Given the description of an element on the screen output the (x, y) to click on. 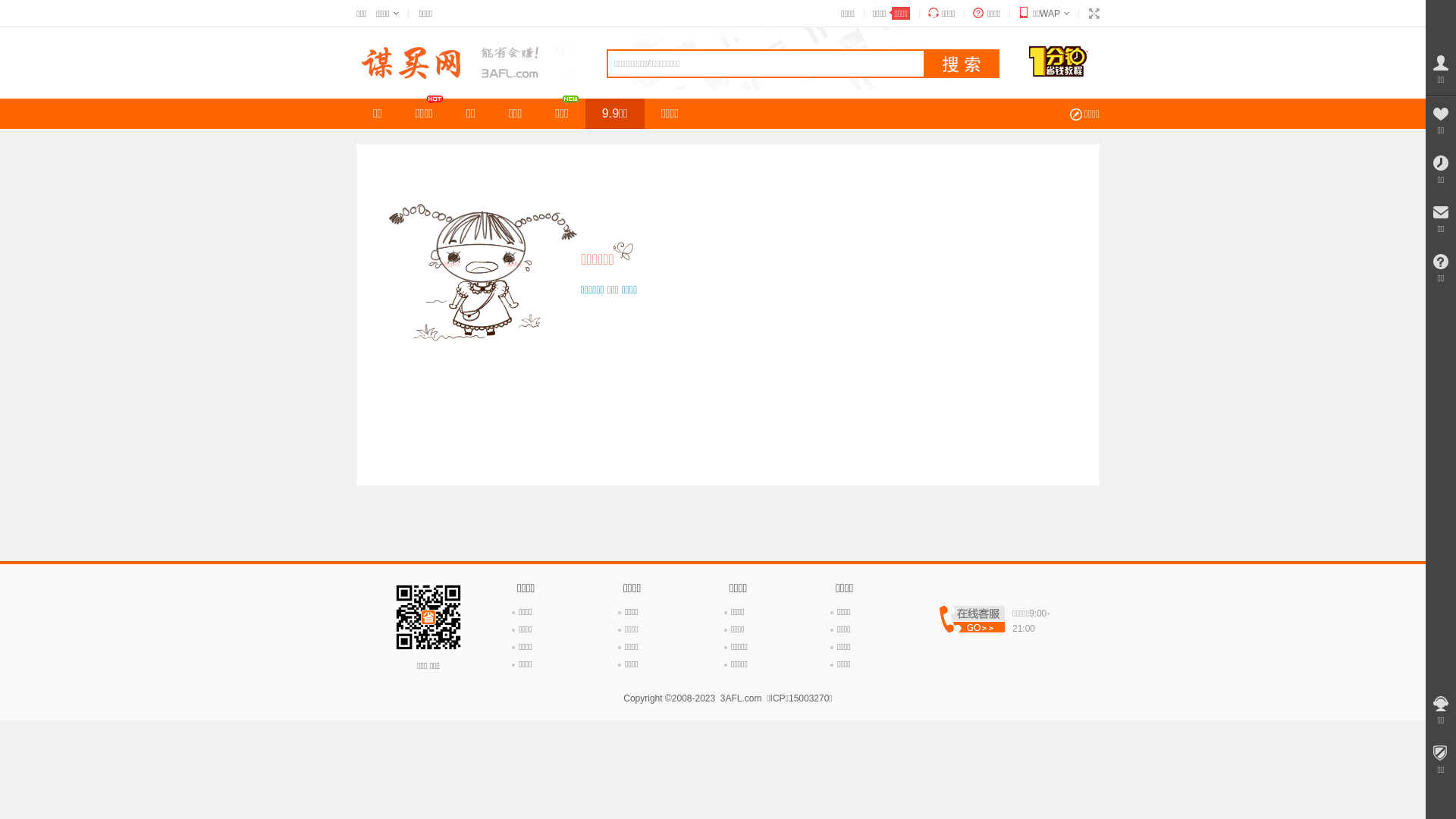
3AFL.com Element type: text (741, 698)
